Given the description of an element on the screen output the (x, y) to click on. 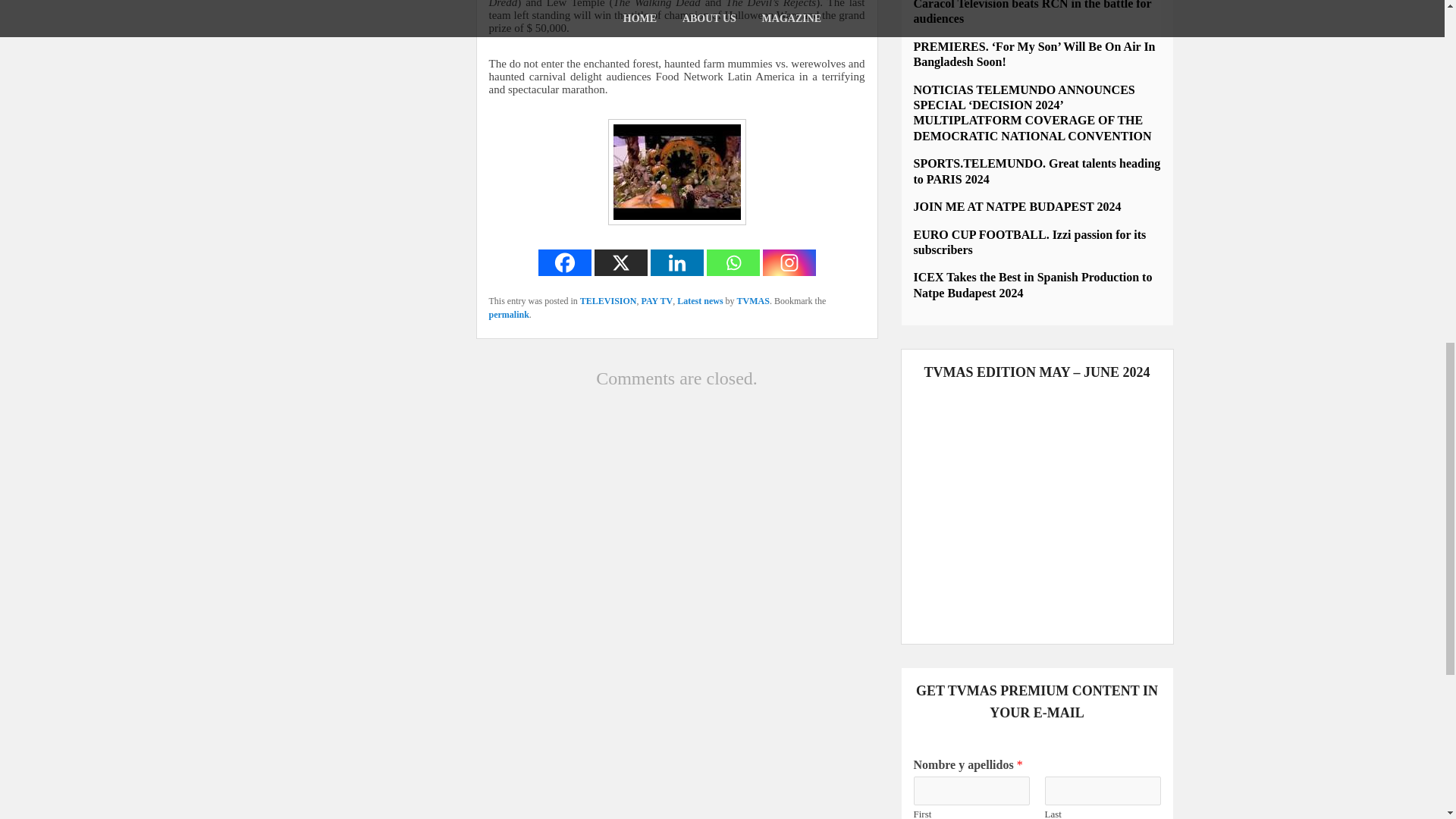
Instagram (788, 262)
Whatsapp (733, 262)
Facebook (564, 262)
X (620, 262)
Linkedin (676, 262)
